Given the description of an element on the screen output the (x, y) to click on. 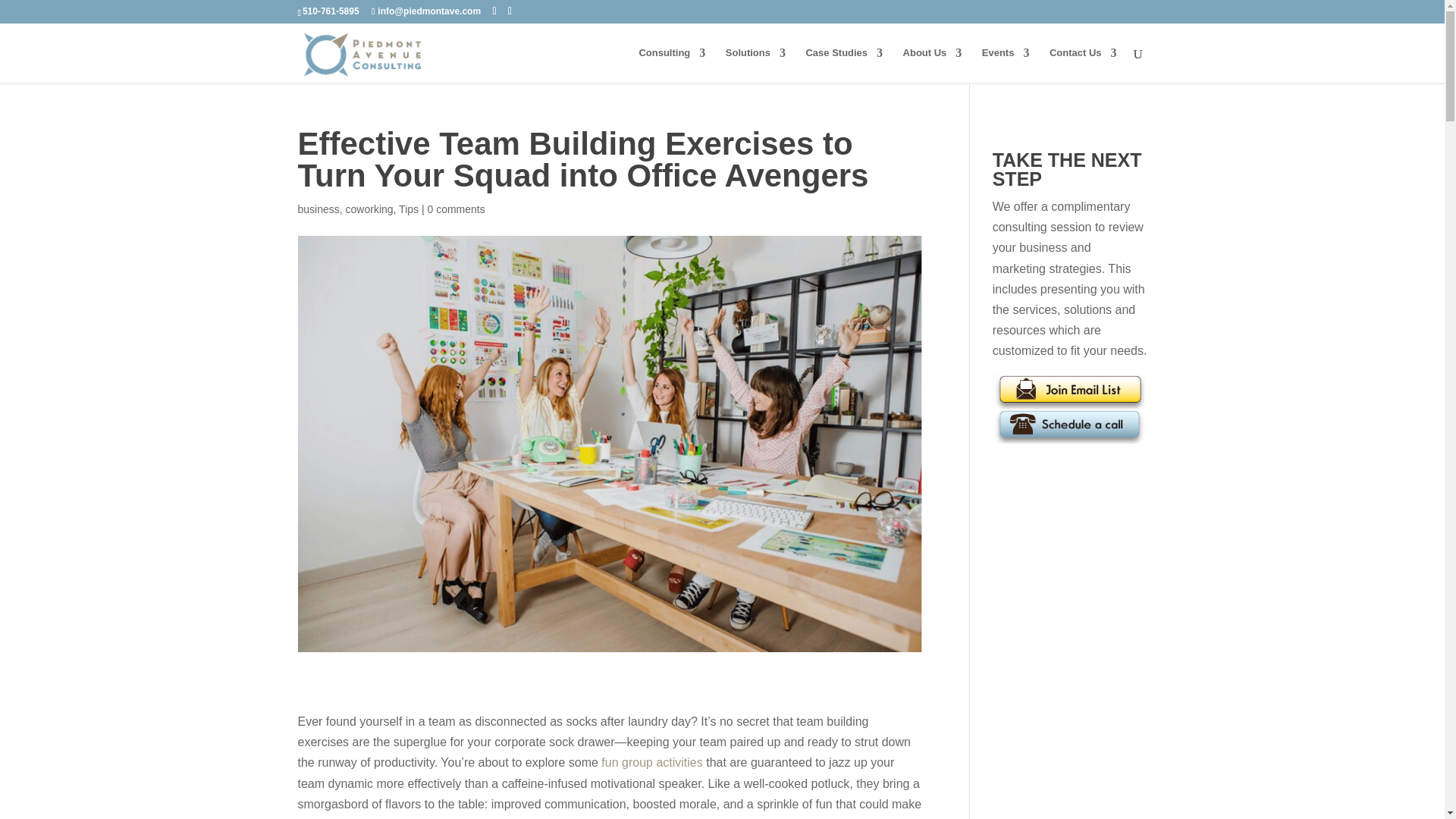
Consulting (671, 65)
Case Studies (843, 65)
About Us (932, 65)
Solutions (755, 65)
